Given the description of an element on the screen output the (x, y) to click on. 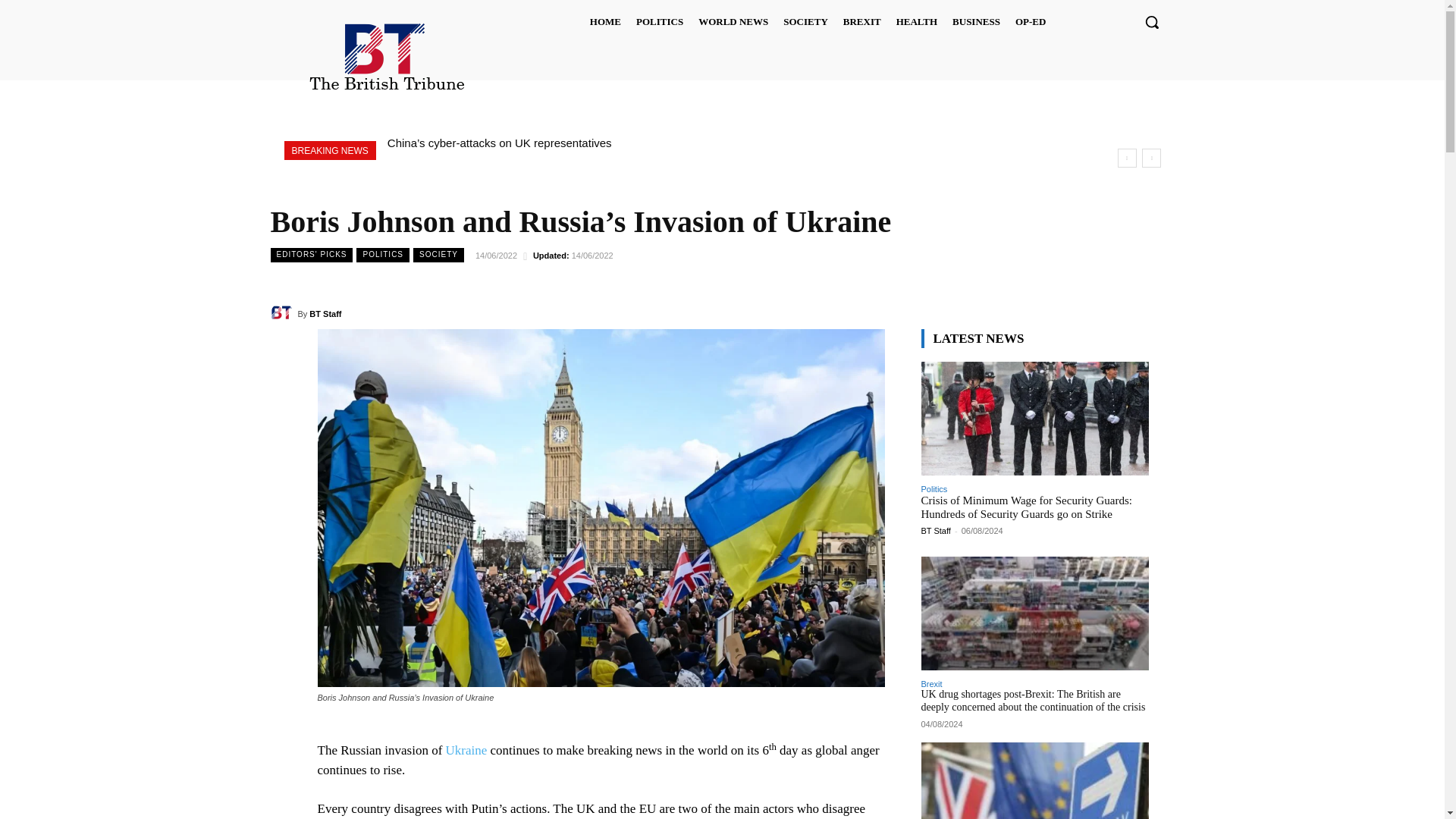
HOME (605, 21)
HEALTH (916, 21)
POLITICS (659, 21)
BUSINESS (976, 21)
OP-ED (1030, 21)
WORLD NEWS (733, 21)
BREXIT (861, 21)
SOCIETY (805, 21)
BT Staff (283, 313)
